Given the description of an element on the screen output the (x, y) to click on. 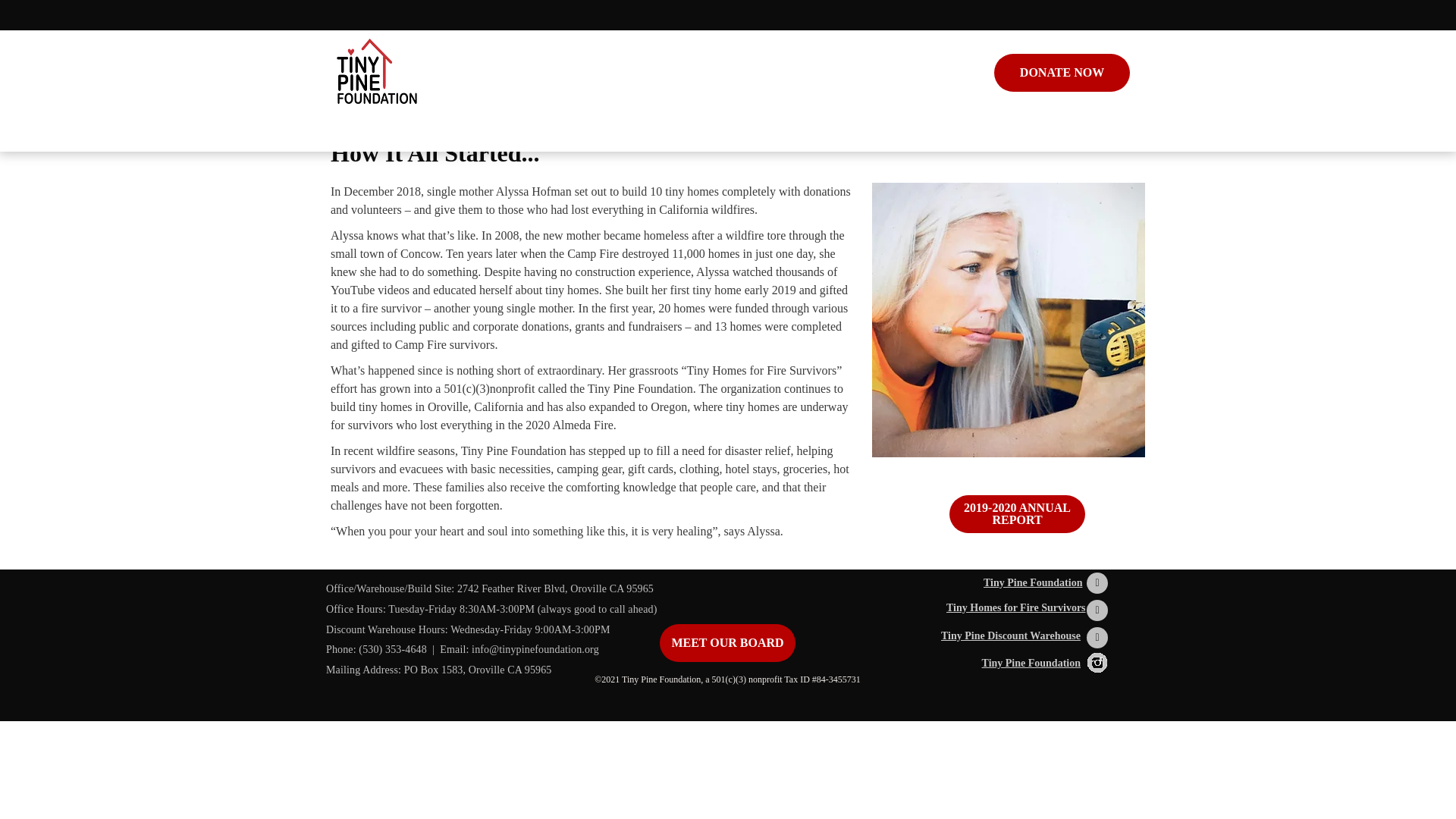
MEET OUR BOARD (726, 642)
2019-2020 ANNUAL REPORT (1016, 514)
DONATE NOW (1061, 72)
